Given the description of an element on the screen output the (x, y) to click on. 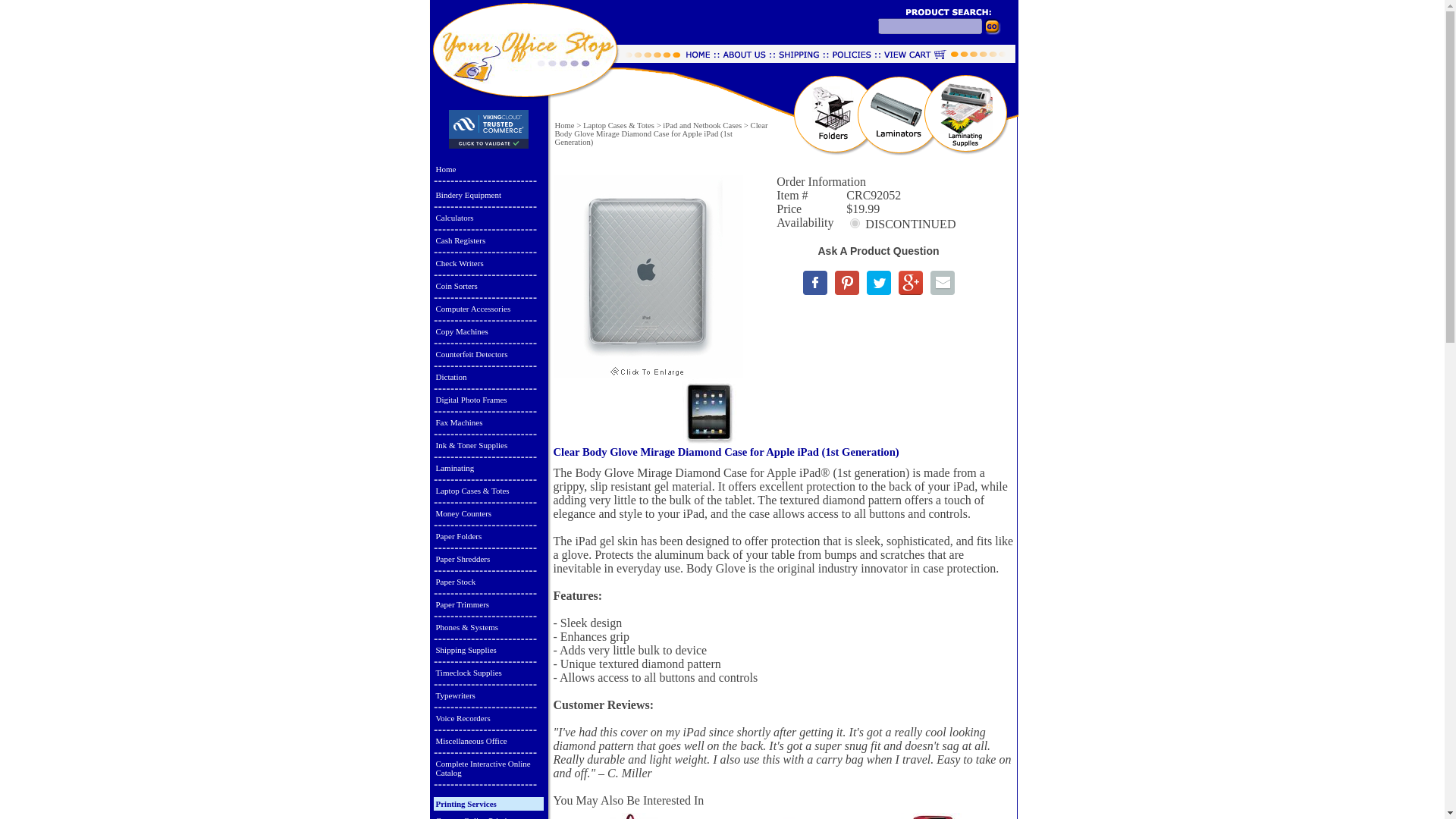
DISCONTINUED (855, 223)
Coin Sorters (487, 285)
Home (487, 168)
Typewriters (487, 694)
Cash Registers (487, 240)
Counterfeit Detectors (487, 353)
Timeclock Supplies (487, 672)
search (999, 31)
Fax Machines (487, 421)
Copy Machines (487, 331)
Paper Folders (487, 535)
Calculators (487, 217)
Paper Trimmers (487, 604)
Digital Photo Frames (487, 399)
